Given the description of an element on the screen output the (x, y) to click on. 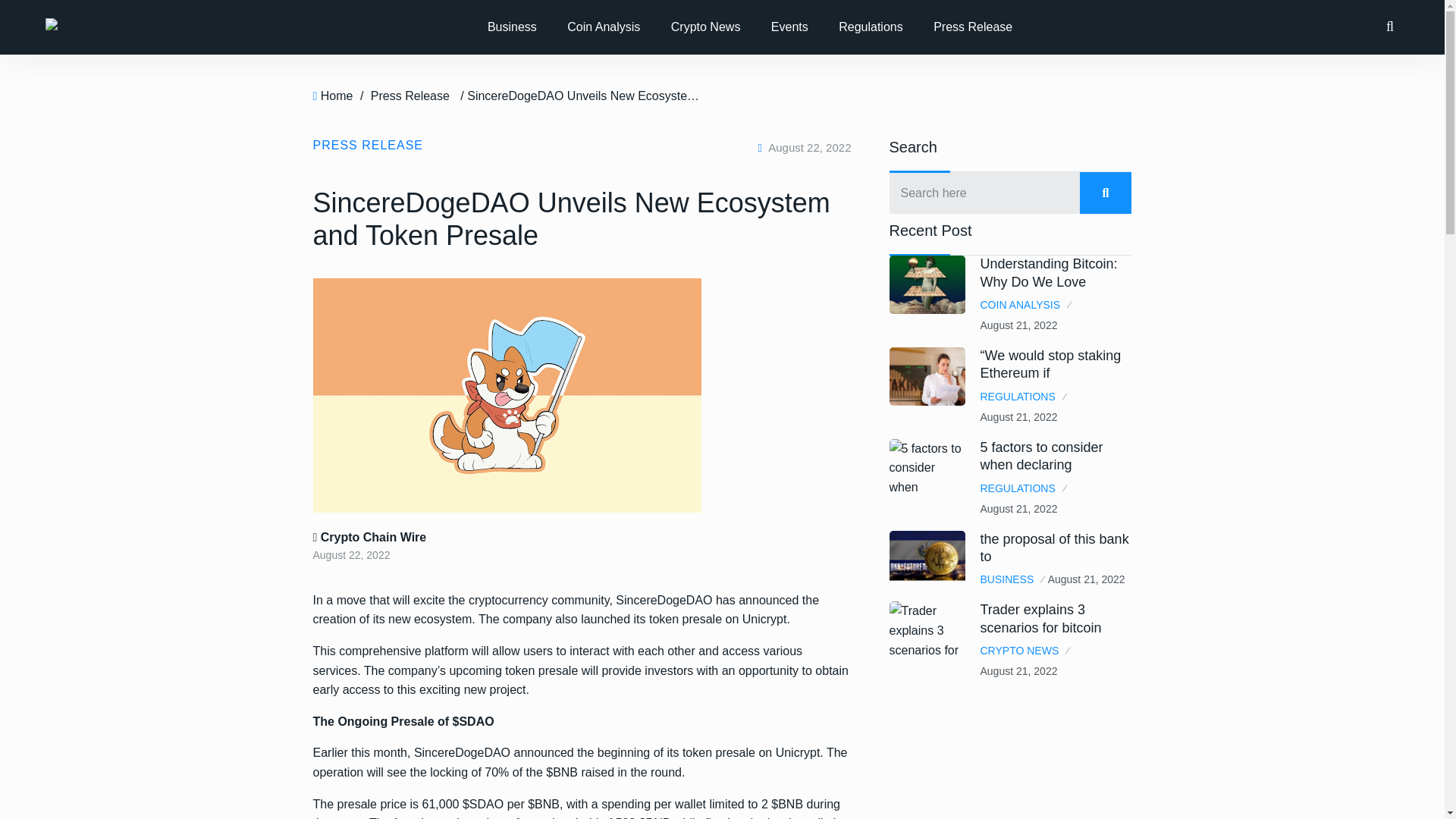
REGULATIONS (1022, 488)
5 factors to consider when declaring (1040, 455)
Press Release (973, 27)
Press Release (410, 95)
the proposal of this bank to (1053, 547)
Events (789, 27)
PRESS RELEASE (368, 144)
announced (543, 752)
Understanding Bitcoin: Why Do We Love (1047, 272)
COIN ANALYSIS (1024, 305)
Home (336, 95)
Coin Analysis (603, 27)
Regulations (871, 27)
Business (512, 27)
REGULATIONS (1022, 396)
